Given the description of an element on the screen output the (x, y) to click on. 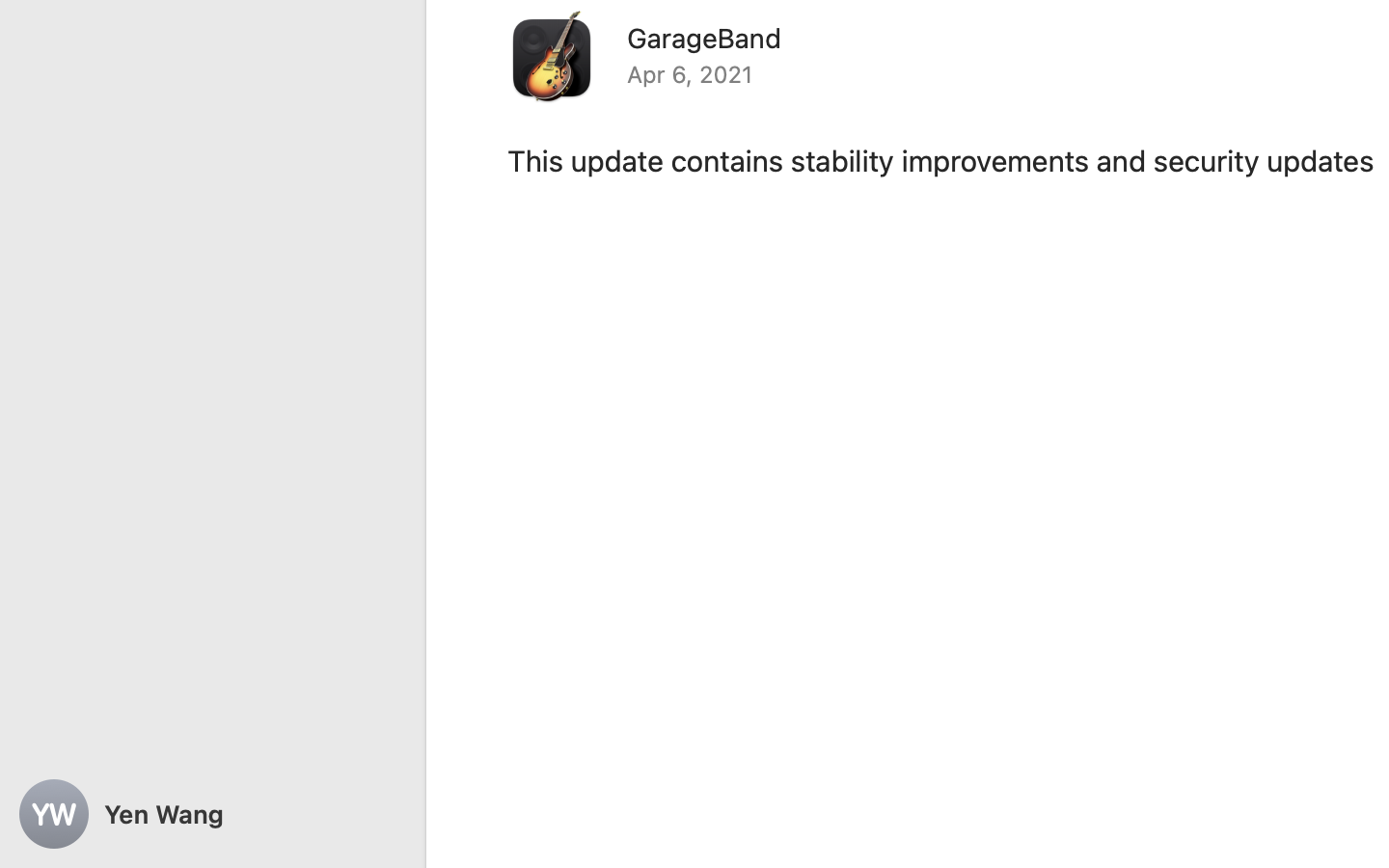
Apr 6, 2021 Element type: AXStaticText (690, 73)
GarageBand Element type: AXStaticText (704, 37)
Yen Wang Element type: AXButton (212, 813)
